Given the description of an element on the screen output the (x, y) to click on. 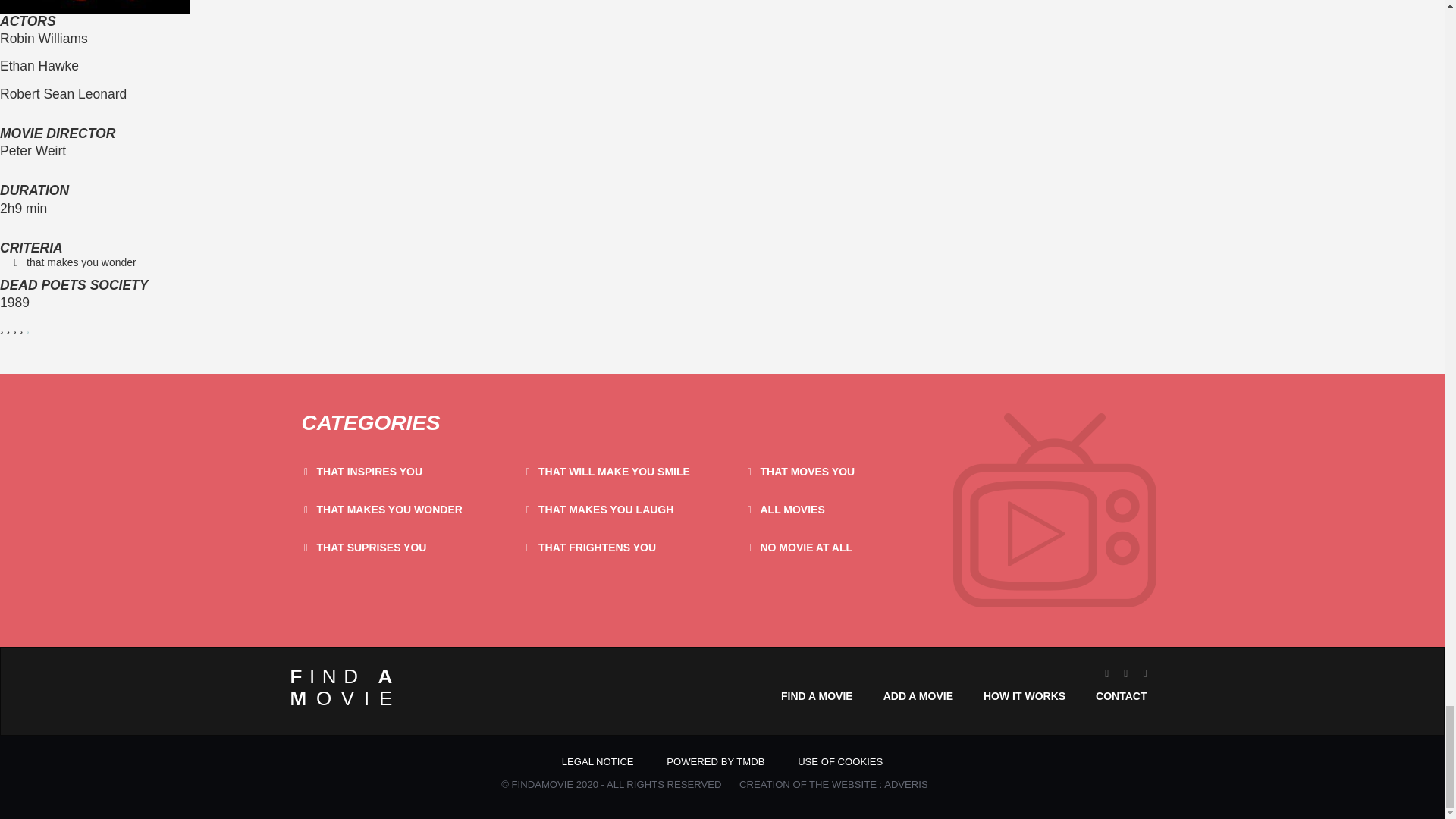
THAT WILL MAKE YOU SMILE (614, 471)
THAT MAKES YOU LAUGH (605, 509)
THAT INSPIRES YOU (370, 471)
THAT MAKES YOU WONDER (390, 509)
THAT MOVES YOU (807, 471)
NO MOVIE AT ALL (805, 547)
ALL MOVIES (792, 509)
THAT FRIGHTENS YOU (597, 547)
THAT SUPRISES YOU (371, 547)
